Given the description of an element on the screen output the (x, y) to click on. 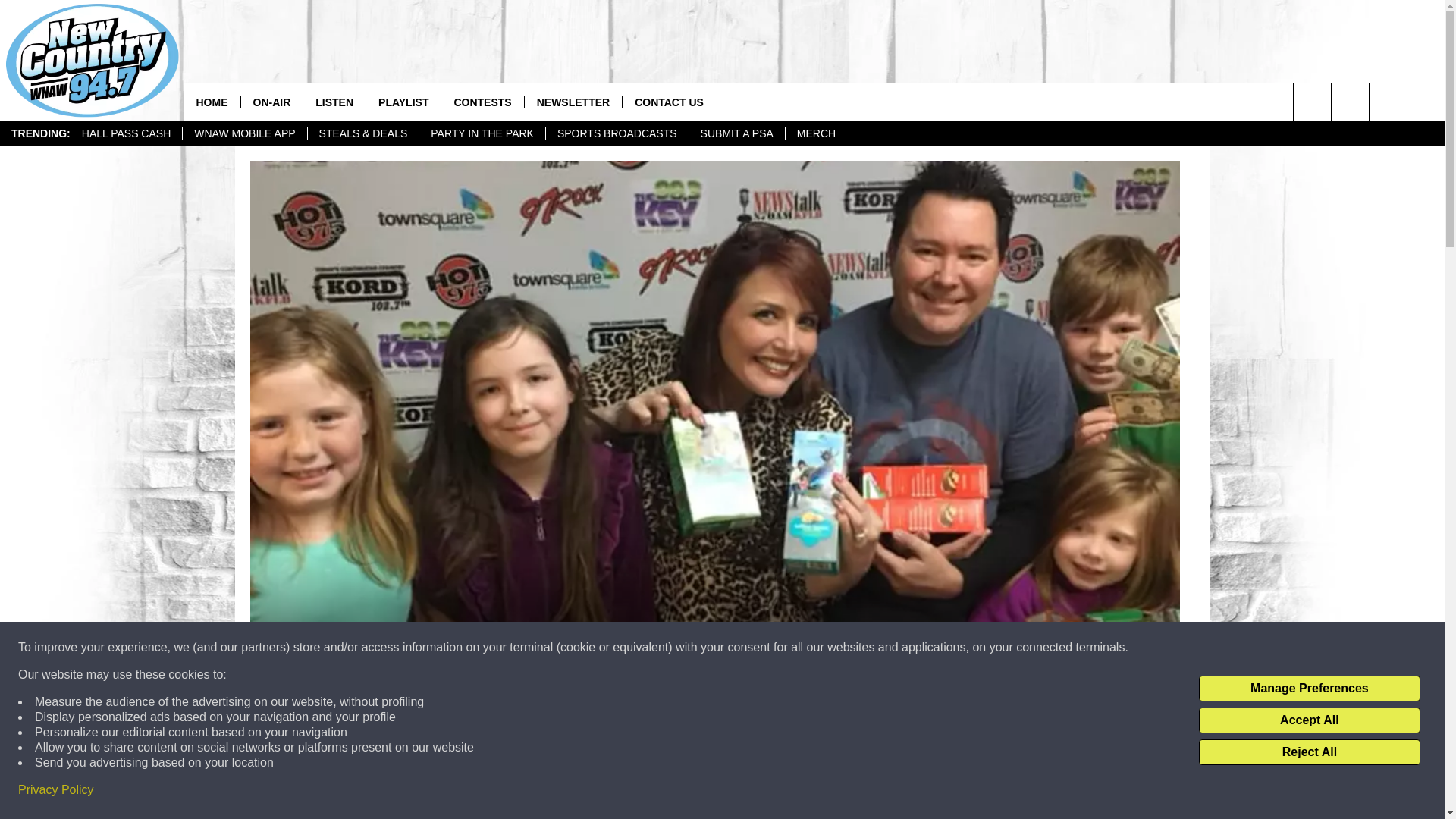
CONTESTS (481, 102)
PLAYLIST (403, 102)
Share on Facebook (517, 791)
CONTACT US (668, 102)
Manage Preferences (1309, 688)
MERCH (815, 133)
PARTY IN THE PARK (481, 133)
NEWSLETTER (572, 102)
Privacy Policy (55, 789)
Accept All (1309, 720)
HALL PASS CASH (126, 133)
Reject All (1309, 751)
Share on Twitter (912, 791)
HOME (211, 102)
LISTEN (333, 102)
